Given the description of an element on the screen output the (x, y) to click on. 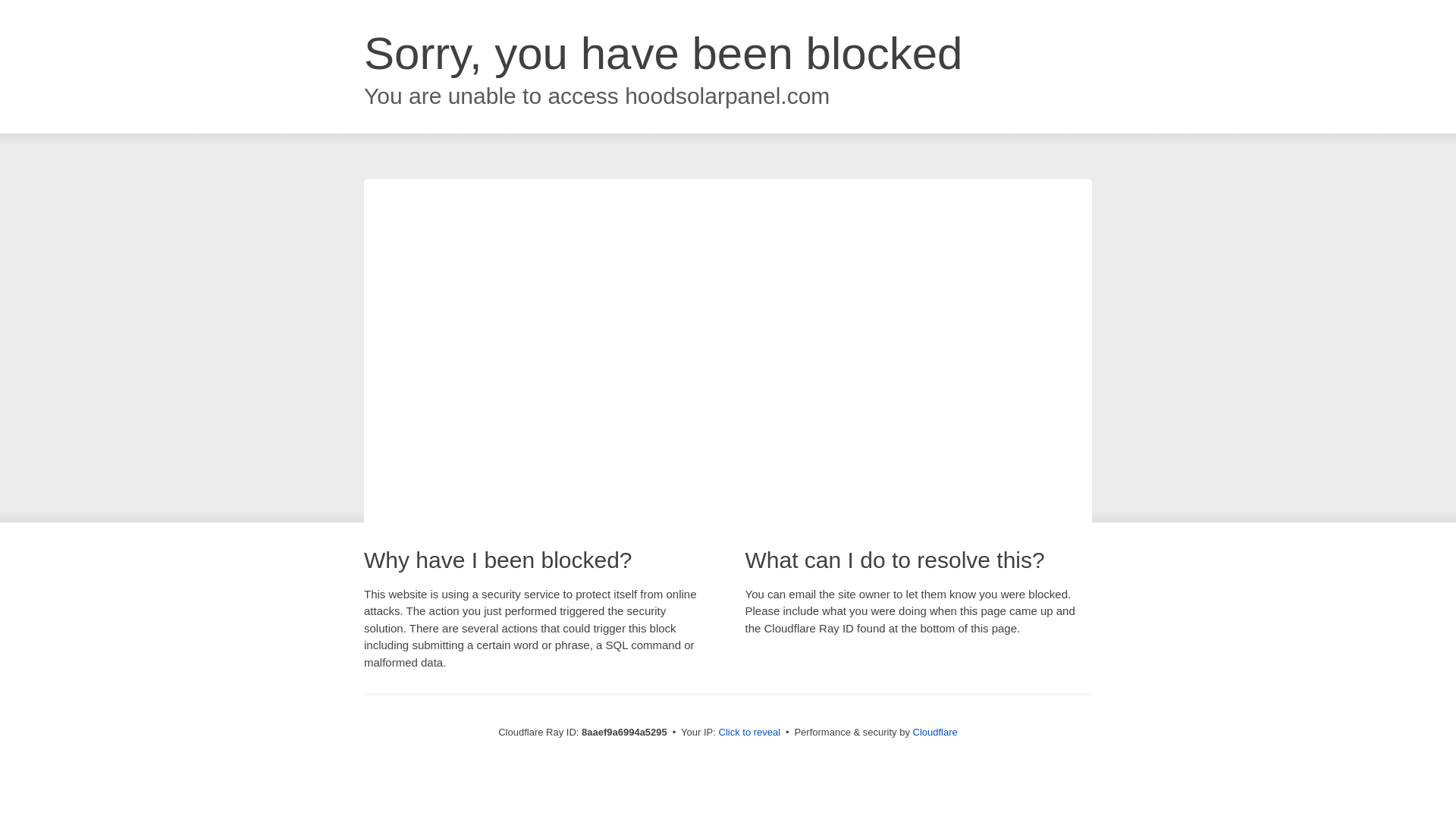
Click to reveal (749, 732)
Cloudflare (935, 731)
